Given the description of an element on the screen output the (x, y) to click on. 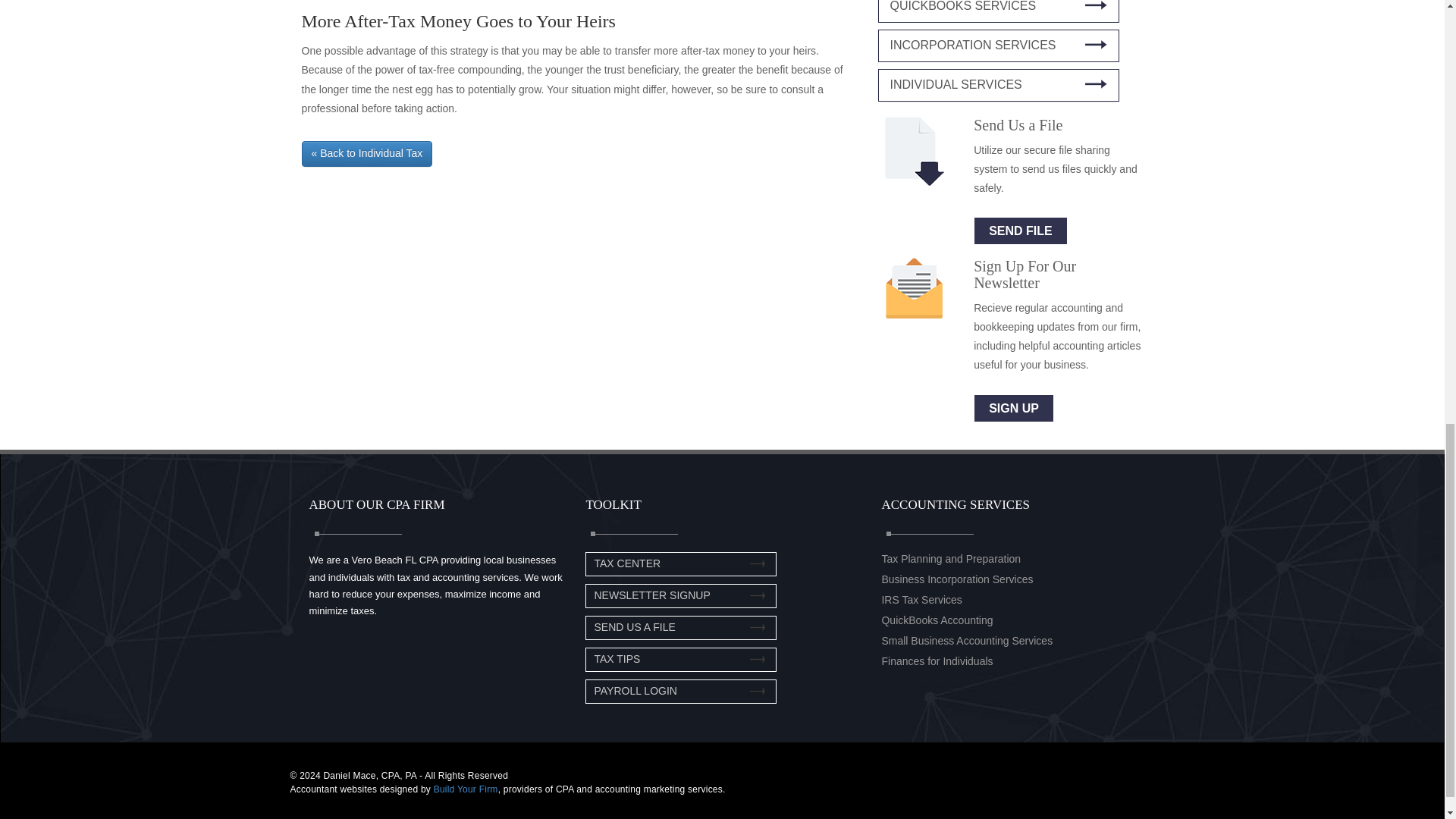
Tax Planning and Preparation (950, 558)
INDIVIDUAL SERVICES (998, 84)
SEND US A FILE (634, 626)
QuickBooks Accounting (936, 620)
Business Incorporation Services (956, 579)
NEWSLETTER SIGNUP (652, 594)
IRS Tax Services (920, 599)
INCORPORATION SERVICES (998, 45)
SEND FILE (1020, 230)
SIGN UP (1014, 407)
TAX CENTER (627, 563)
TAX TIPS (617, 658)
Small Business Accounting Services (966, 640)
PAYROLL LOGIN (635, 690)
QUICKBOOKS SERVICES (998, 11)
